Given the description of an element on the screen output the (x, y) to click on. 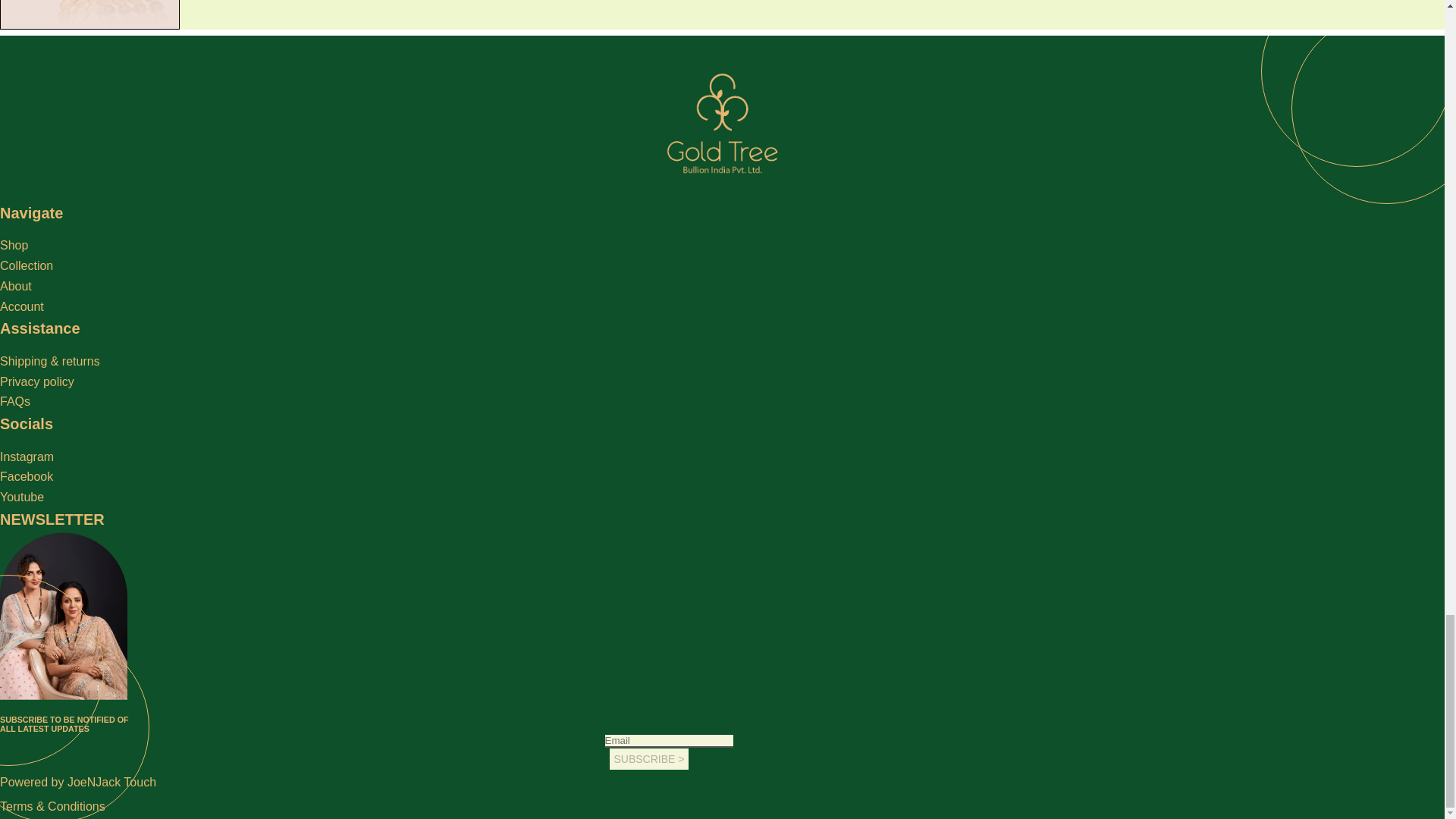
Powered by JoeNJack Touch (77, 781)
